Given the description of an element on the screen output the (x, y) to click on. 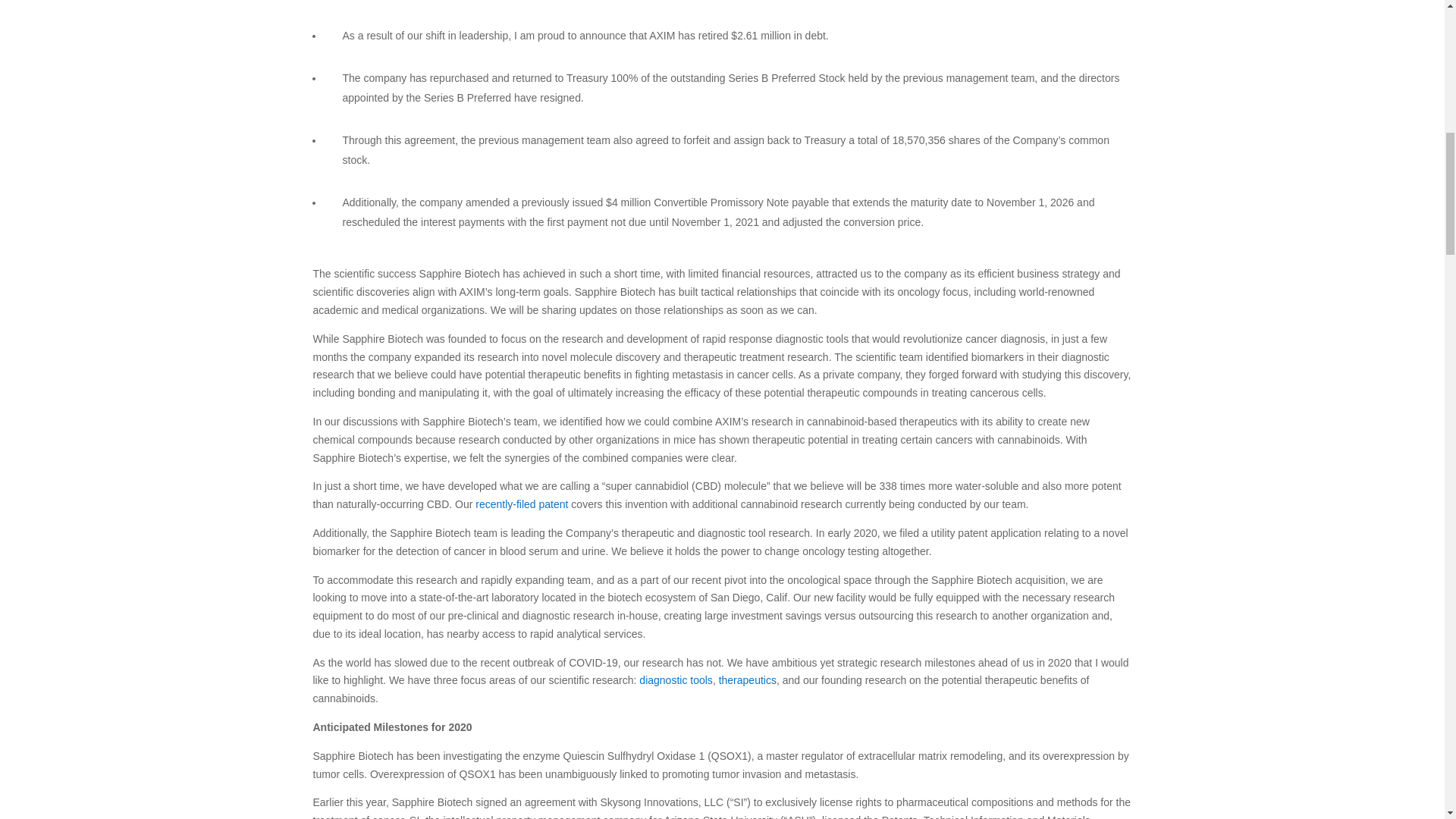
recently-filed patent (521, 503)
diagnostic tools (676, 680)
therapeutics (747, 680)
